Given the description of an element on the screen output the (x, y) to click on. 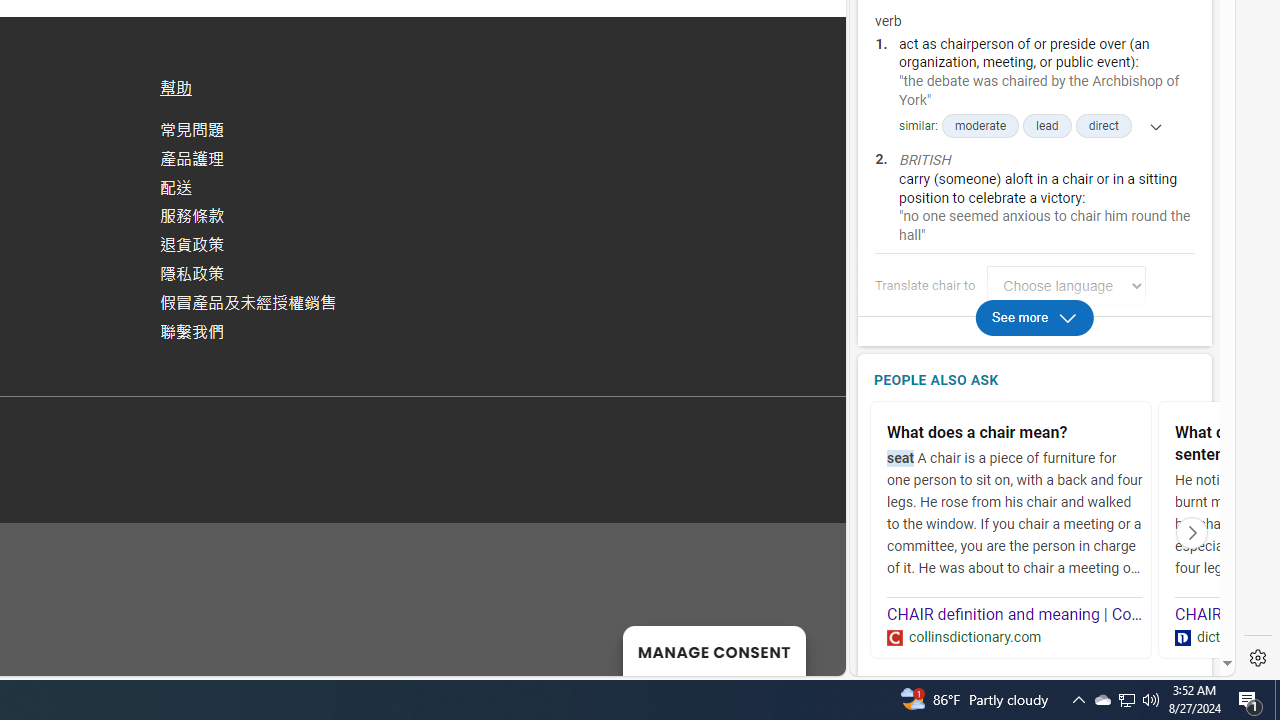
Click to scroll right (1192, 532)
